Given the description of an element on the screen output the (x, y) to click on. 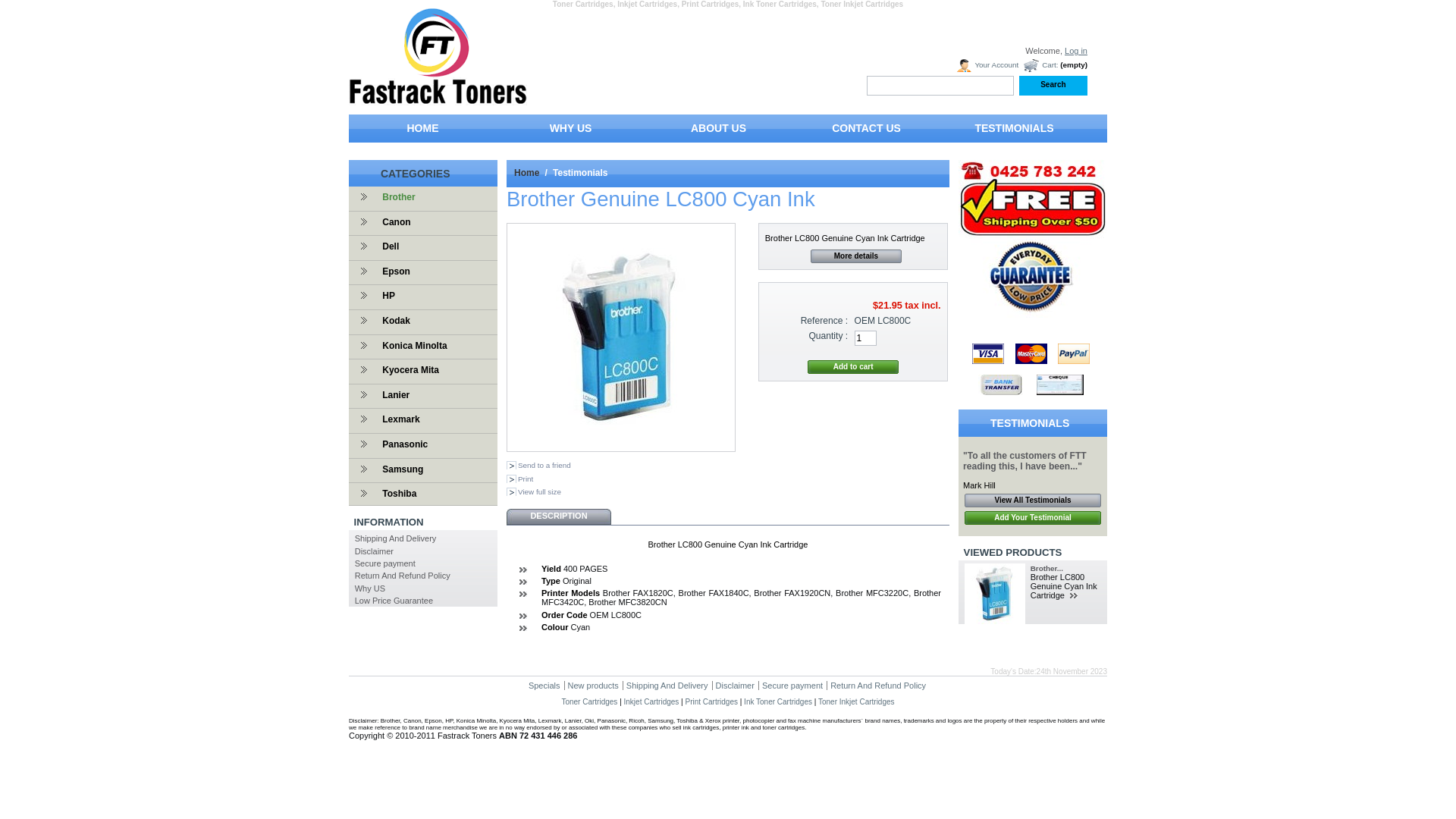
Home Element type: text (526, 172)
Return And Refund Policy Element type: text (402, 575)
HOME Element type: text (422, 131)
Add Your Testimonial Element type: text (1032, 517)
HP Element type: text (384, 295)
Lanier Element type: text (391, 394)
New products Element type: text (592, 685)
Inkjet Cartridges Element type: text (651, 701)
Your Account Element type: text (986, 65)
Print Cartridges Element type: text (710, 701)
WHY US Element type: text (570, 131)
Lexmark Element type: text (396, 419)
TESTIMONIALS Element type: text (1014, 131)
Dell Element type: text (386, 246)
Why US Element type: text (369, 588)
Return And Refund Policy Element type: text (877, 685)
Samsung Element type: text (398, 469)
Low Price Guarantee Element type: text (393, 600)
Log in Element type: text (1075, 50)
Search Element type: text (1053, 85)
More details Element type: text (855, 256)
Kodak Element type: text (392, 320)
Toner Cartridges Element type: text (589, 701)
Brother... Element type: text (1046, 568)
Disclaimer Element type: text (373, 550)
Panasonic Element type: text (400, 444)
"To all the customers of FTT reading this, I have been..." Element type: text (1024, 460)
CONTACT US Element type: text (866, 131)
Print Element type: text (519, 478)
Secure payment Element type: text (792, 685)
DESCRIPTION Element type: text (558, 516)
Ink Toner Cartridges Element type: text (777, 701)
Brother Genuine LC800 Cyan Ink Element type: hover (620, 337)
Shipping And Delivery Element type: text (667, 685)
Konica Minolta Element type: text (410, 345)
Disclaimer Element type: text (734, 685)
Add to cart Element type: text (852, 366)
Brother Element type: text (394, 196)
Toner Inkjet Cartridges Element type: text (856, 701)
Kyocera Mita Element type: text (406, 369)
Shipping And Delivery Element type: text (395, 537)
Secure payment Element type: text (384, 562)
Ink Toner Inkjet Cartridges - Fastracktoners.com.au Element type: hover (437, 99)
Canon Element type: text (392, 221)
Epson Element type: text (392, 271)
Specials Element type: text (544, 685)
ABOUT US Element type: text (718, 131)
View All Testimonials Element type: text (1032, 500)
More about Brother Genuine LC800 Cyan Ink Element type: hover (1074, 595)
Send to a friend Element type: text (538, 465)
Cart: Element type: text (1039, 65)
Toshiba Element type: text (395, 493)
